Given the description of an element on the screen output the (x, y) to click on. 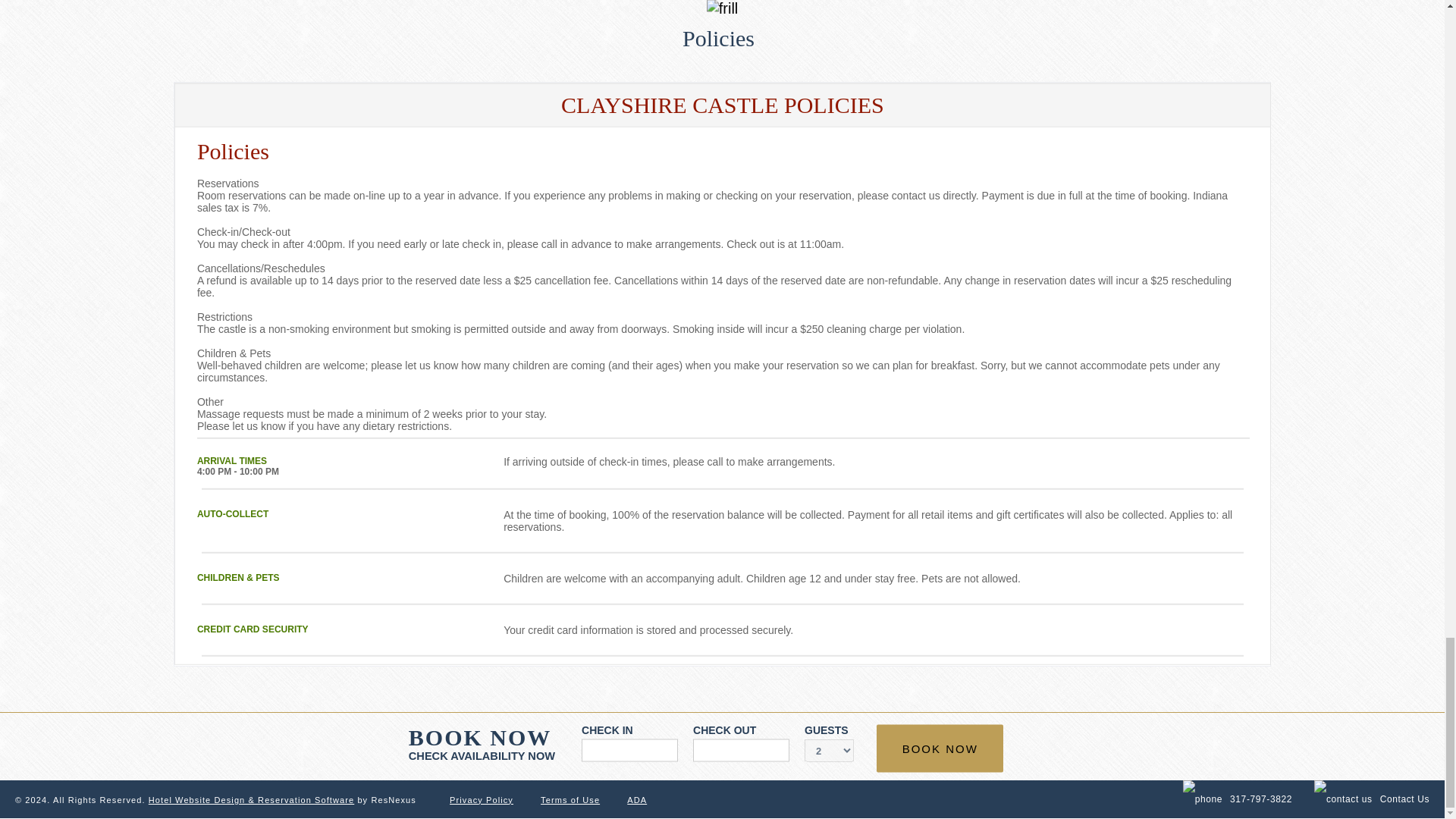
317-797-3822 (1237, 798)
BOOK NOW (939, 748)
Privacy Policy (481, 799)
Terms of Use (569, 799)
End Date (741, 750)
Contact Us (1371, 798)
frill (722, 8)
Start Date (629, 750)
ADA (636, 799)
Number of Guests (829, 750)
